Given the description of an element on the screen output the (x, y) to click on. 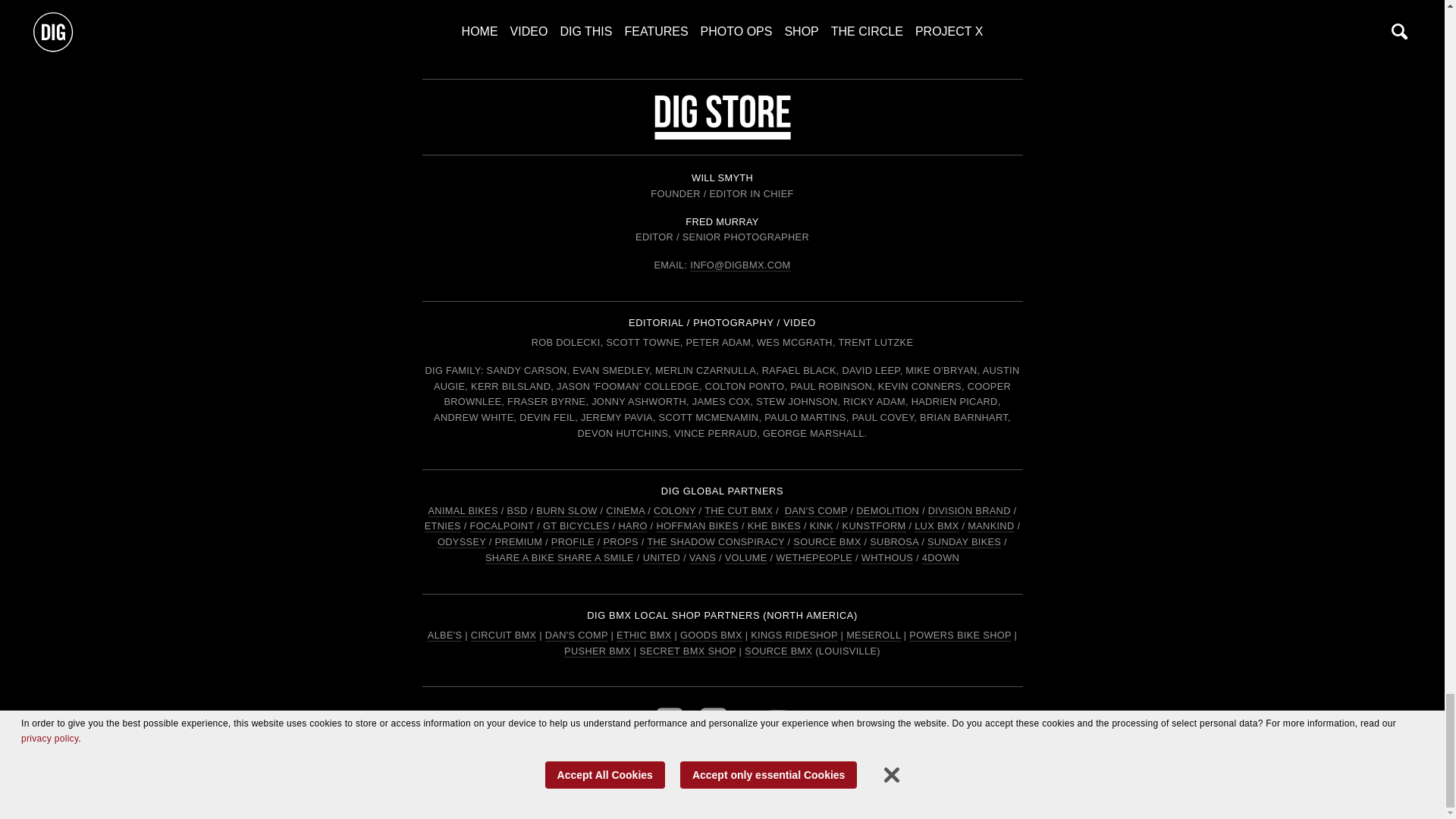
To the top (722, 9)
